Given the description of an element on the screen output the (x, y) to click on. 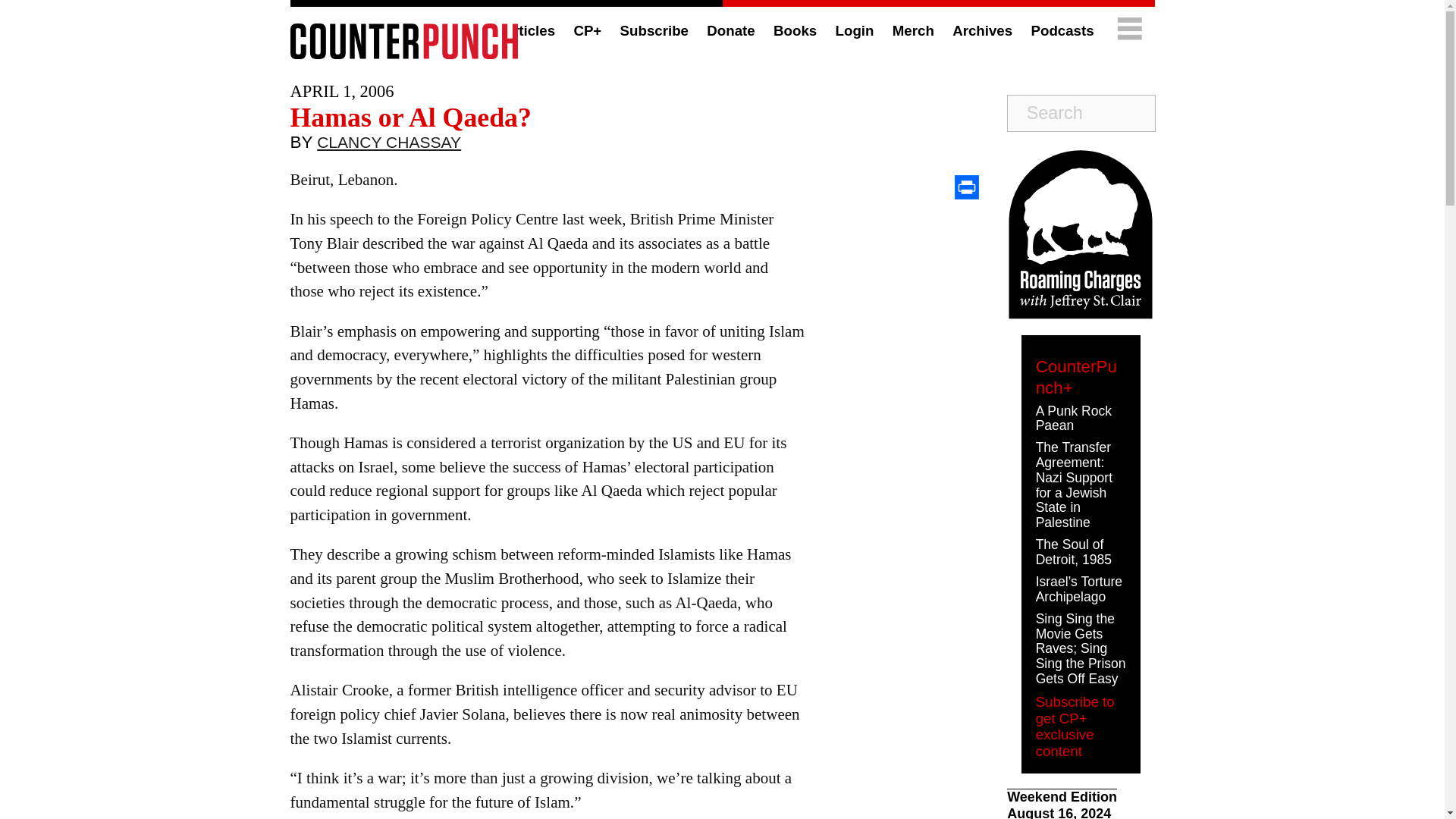
Articles (528, 30)
Archives (981, 30)
CLANCY CHASSAY (389, 145)
Podcasts (1061, 30)
The Soul of Detroit, 1985 (1073, 552)
Donate (730, 30)
2006-04-01 (341, 90)
Hamas or Al Qaeda? (410, 117)
A Punk Rock Paean (1073, 418)
Print This Post (966, 187)
